Given the description of an element on the screen output the (x, y) to click on. 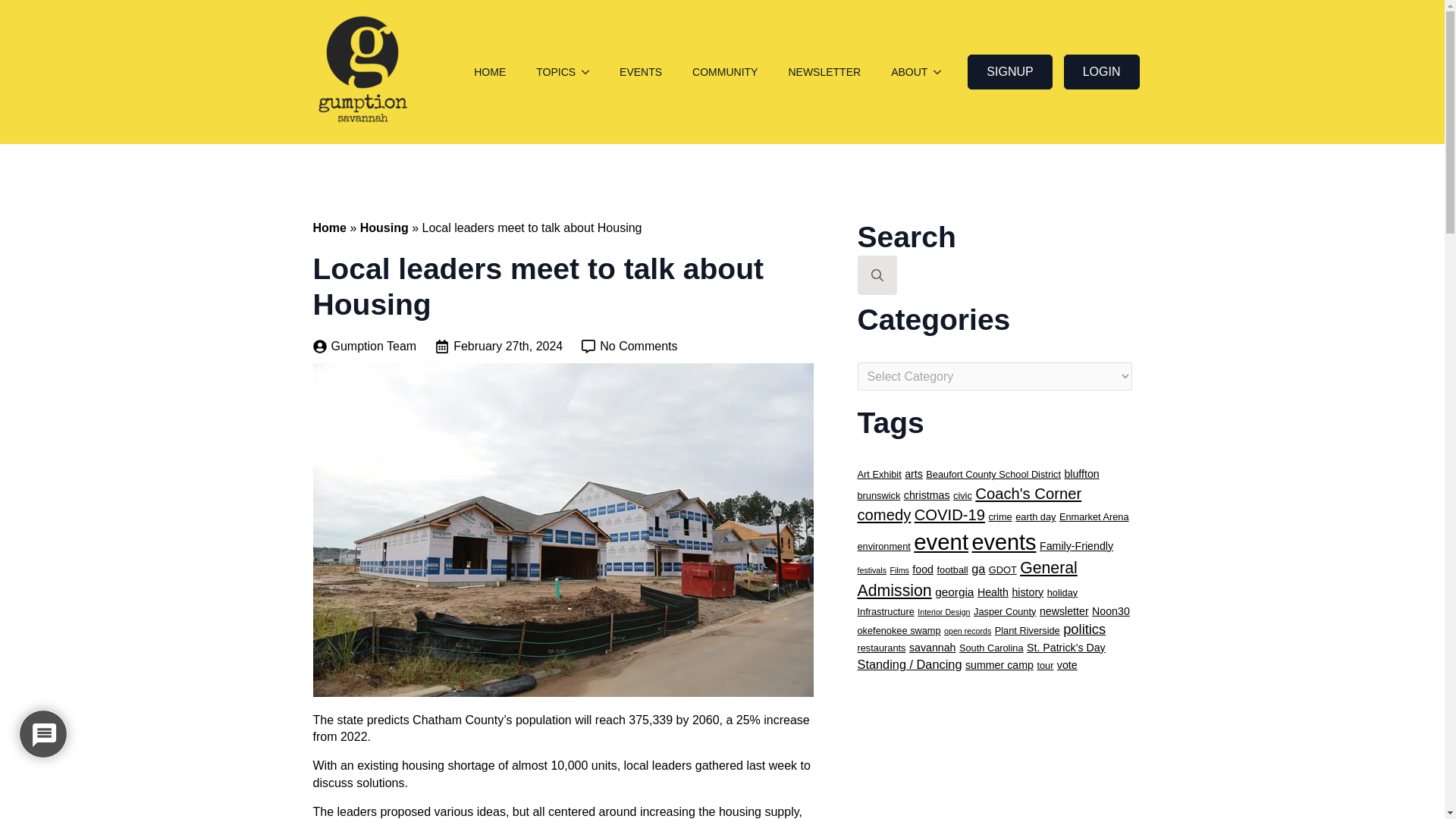
EVENTS (640, 71)
TOPICS (548, 71)
LOGIN (1102, 71)
HOME (489, 71)
NEWSLETTER (824, 71)
Art Exhibit (879, 473)
Beaufort County School District (993, 473)
arts (913, 473)
SIGNUP (1009, 71)
Home (329, 227)
COMMUNITY (725, 71)
Housing (384, 227)
ABOUT (901, 71)
